Given the description of an element on the screen output the (x, y) to click on. 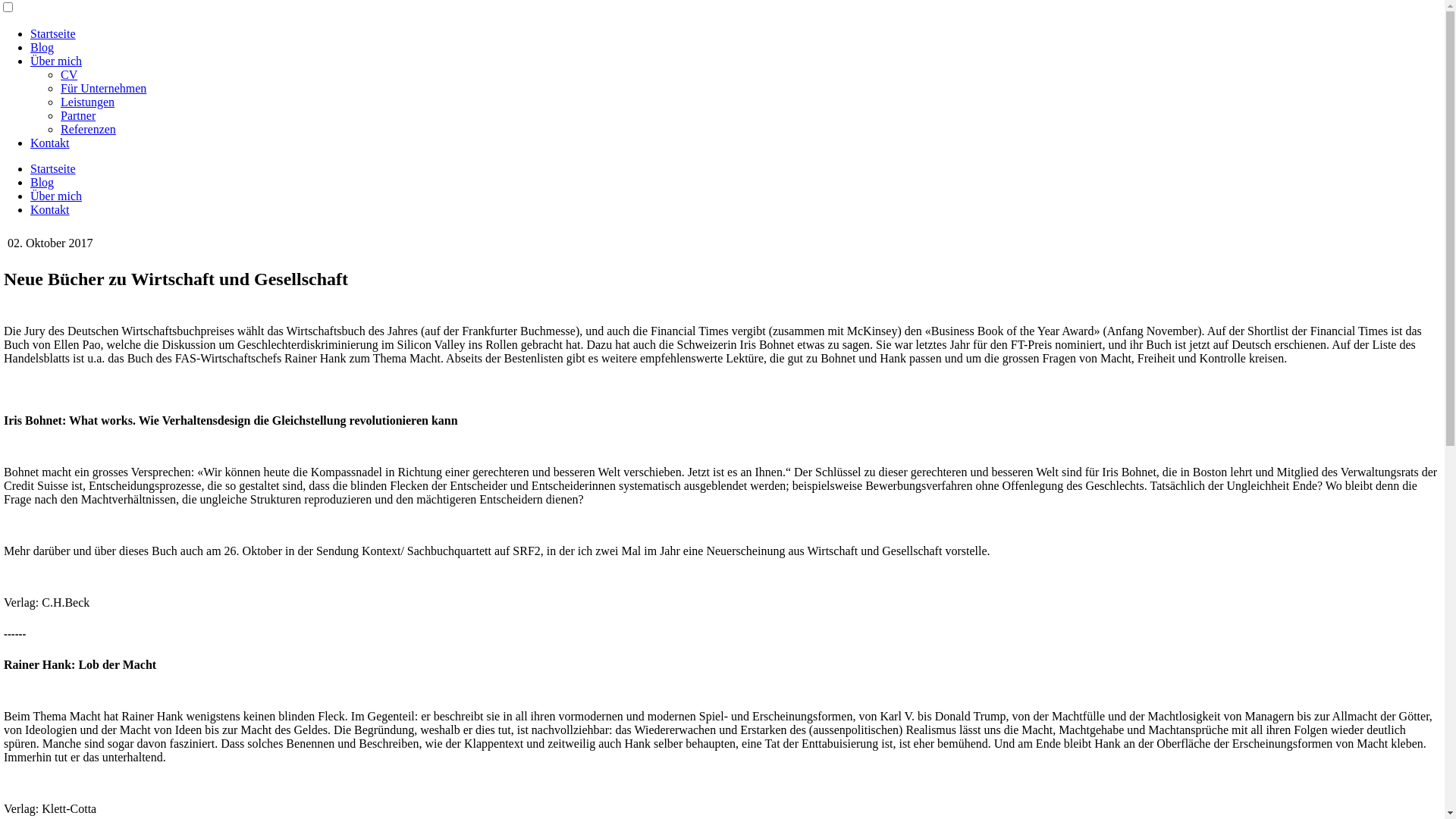
Kontakt Element type: text (49, 142)
Blog Element type: text (41, 46)
Startseite Element type: text (52, 33)
Blog Element type: text (41, 181)
CV Element type: text (68, 74)
Kontakt Element type: text (49, 209)
Leistungen Element type: text (87, 101)
Startseite Element type: text (52, 168)
Partner Element type: text (77, 115)
Referenzen Element type: text (88, 128)
